Given the description of an element on the screen output the (x, y) to click on. 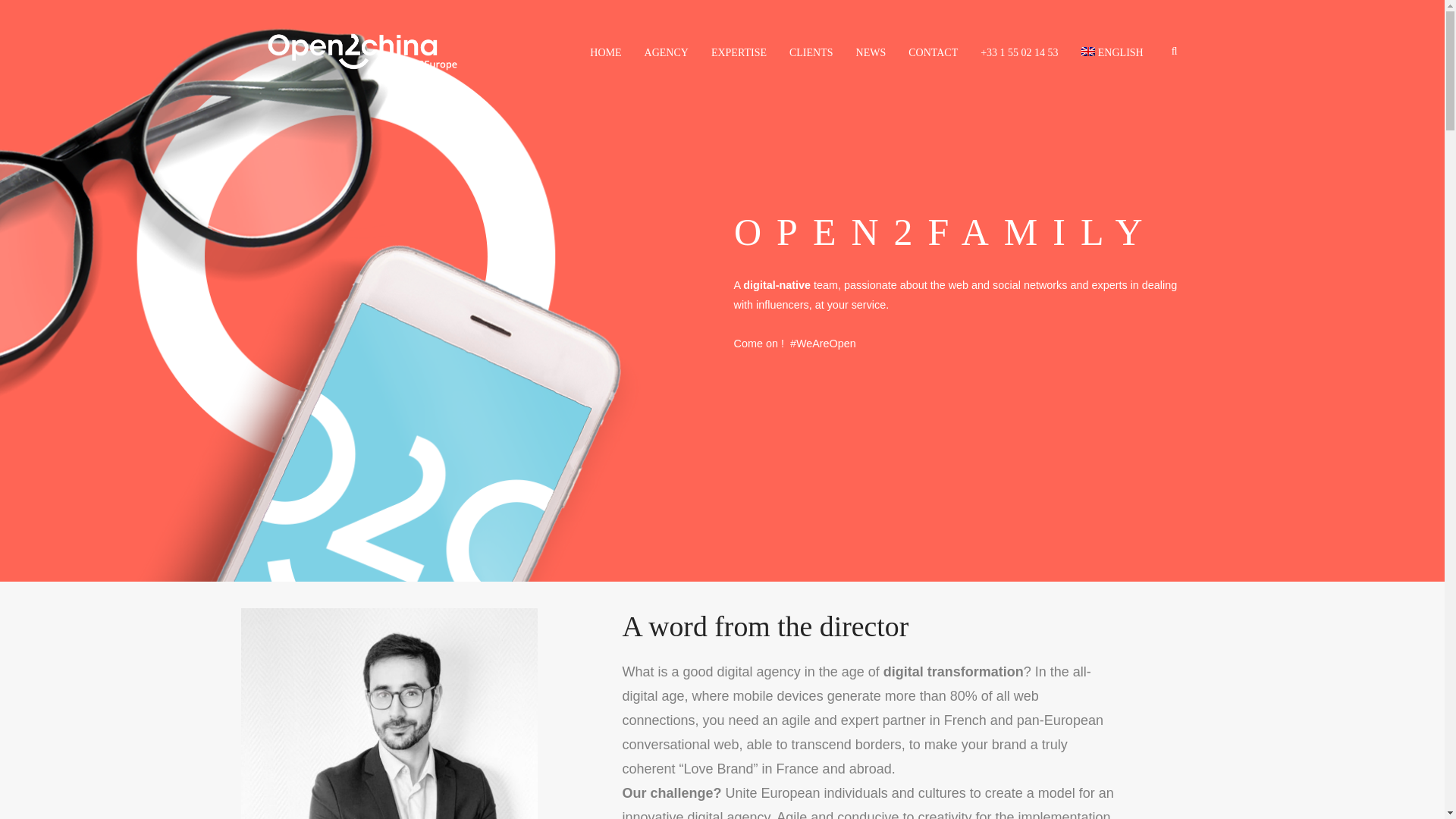
English (1087, 51)
Marko Semialjac - Vice President Open2Digital (389, 713)
